Given the description of an element on the screen output the (x, y) to click on. 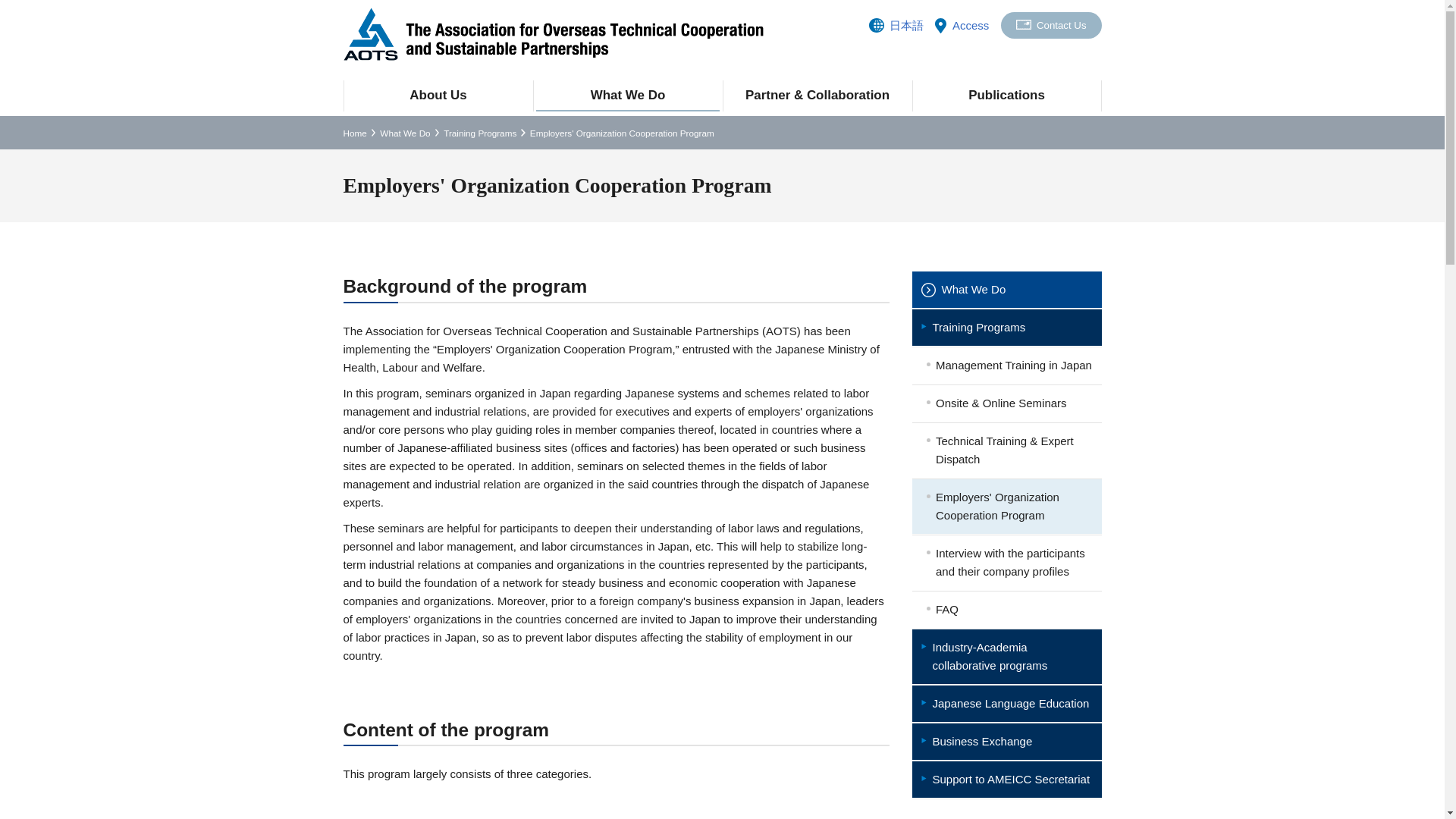
Employers' Organization Cooperation Program (1005, 506)
Industry-Academia collaborative programs (1005, 656)
What We Do (404, 132)
Training Programs (480, 132)
Publications (1006, 96)
Interview with the participants and their company profiles (1005, 562)
Business Exchange (1005, 741)
Japanese Language Education (1005, 703)
Training Programs (1005, 327)
What We Do (1005, 289)
Home (354, 132)
Management Training in Japan (1005, 365)
FAQ (1005, 609)
Access (970, 24)
Contact Us (1050, 25)
